Given the description of an element on the screen output the (x, y) to click on. 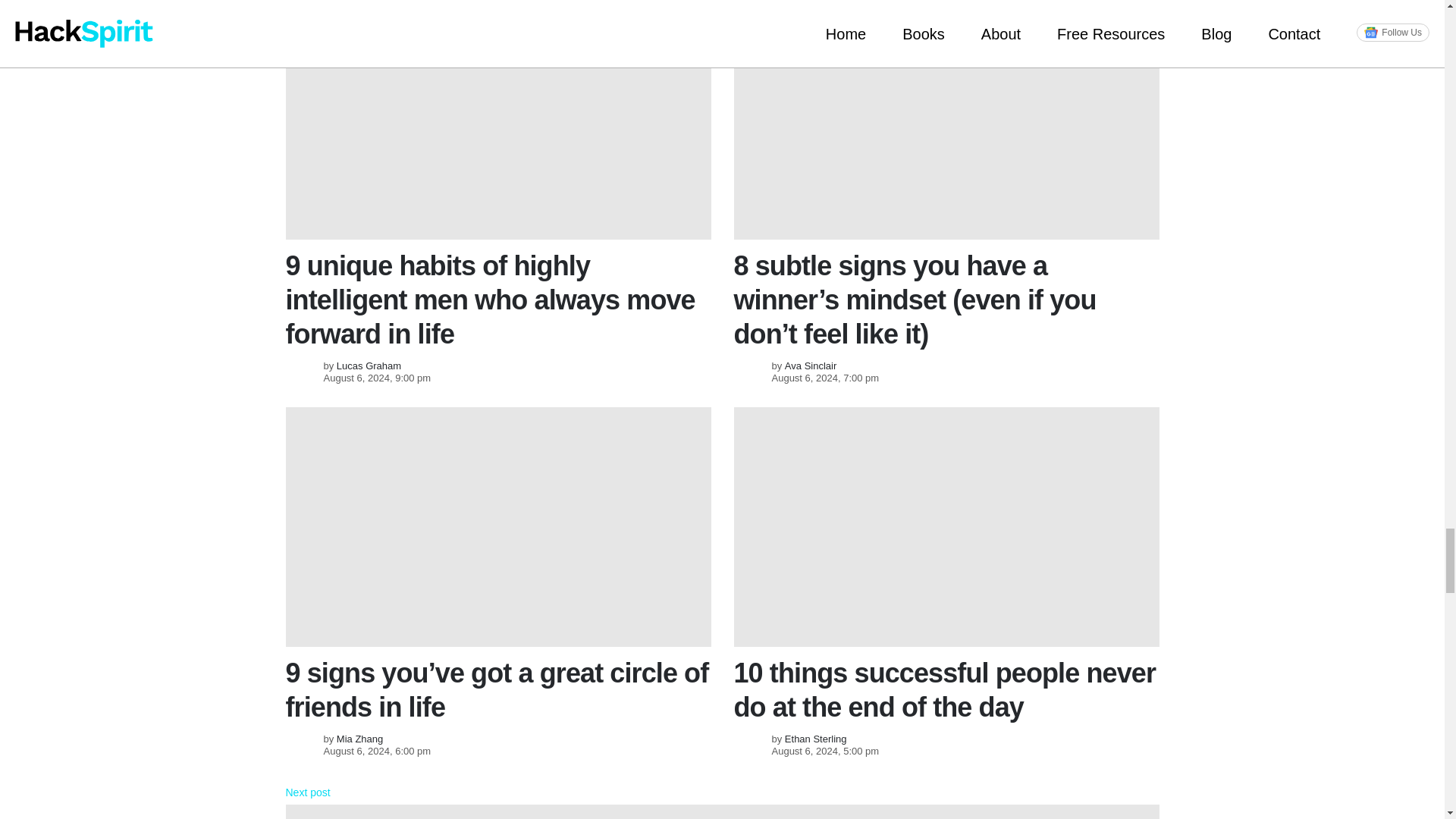
Posts by Ethan Sterling (815, 738)
Posts by Mia Zhang (359, 738)
Posts by Ava Sinclair (809, 365)
Posts by Lucas Graham (368, 365)
10 things successful people never do at the end of the day (945, 527)
